Given the description of an element on the screen output the (x, y) to click on. 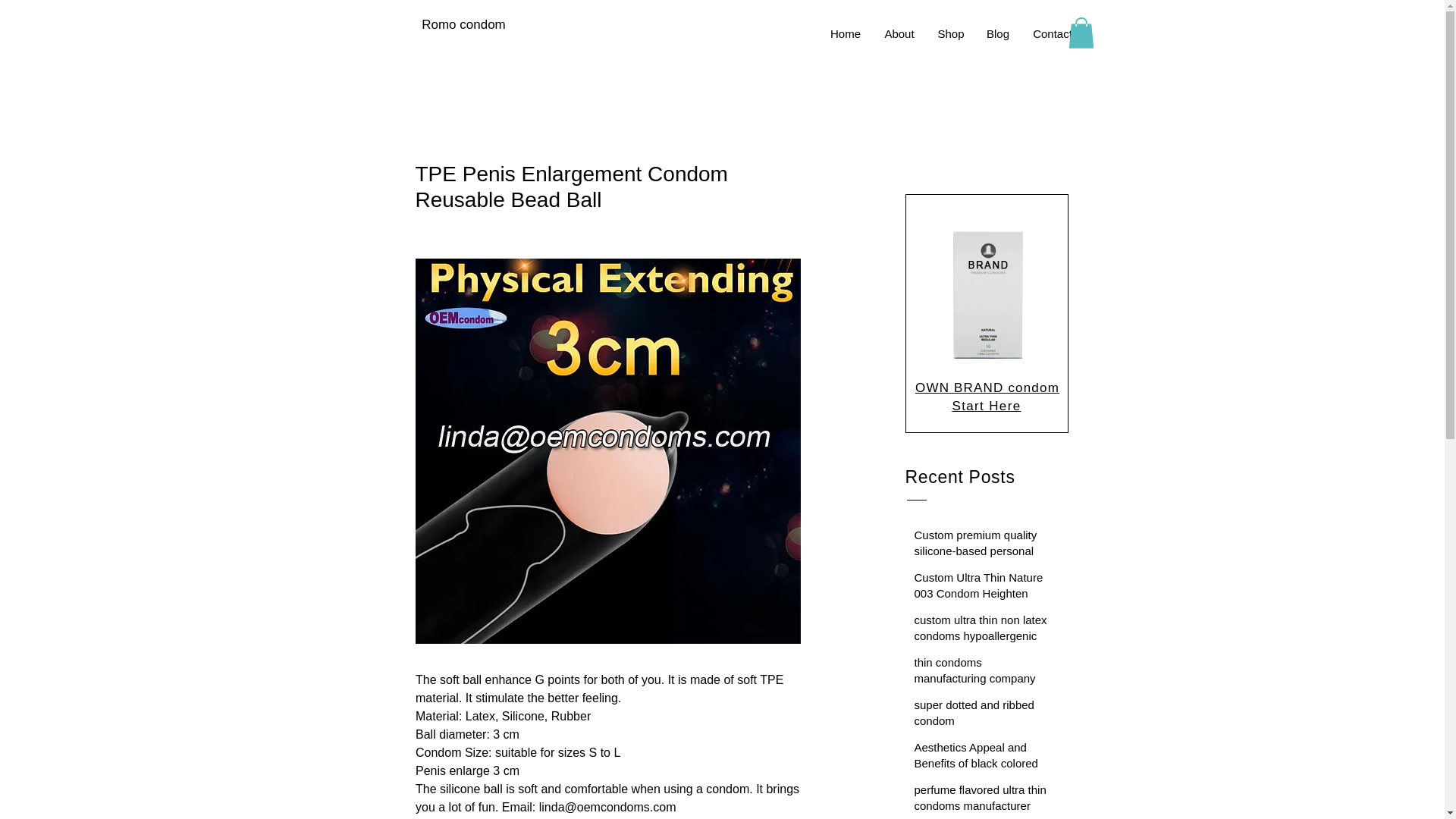
Contact (1051, 34)
perfume flavored ultra thin condoms manufacturer (982, 800)
Shop (950, 34)
Aesthetics Appeal and Benefits of black colored condom (982, 766)
thin condoms manufacturing company (982, 673)
About (899, 34)
Romo condom (463, 24)
Home (845, 34)
super dotted and ribbed condom (982, 715)
OWN BRAND condom (987, 387)
Custom Ultra Thin Nature 003 Condom Heighten Sensation (982, 596)
Blog (998, 34)
Custom premium quality silicone-based personal lubricant (982, 553)
Start Here (986, 405)
